Given the description of an element on the screen output the (x, y) to click on. 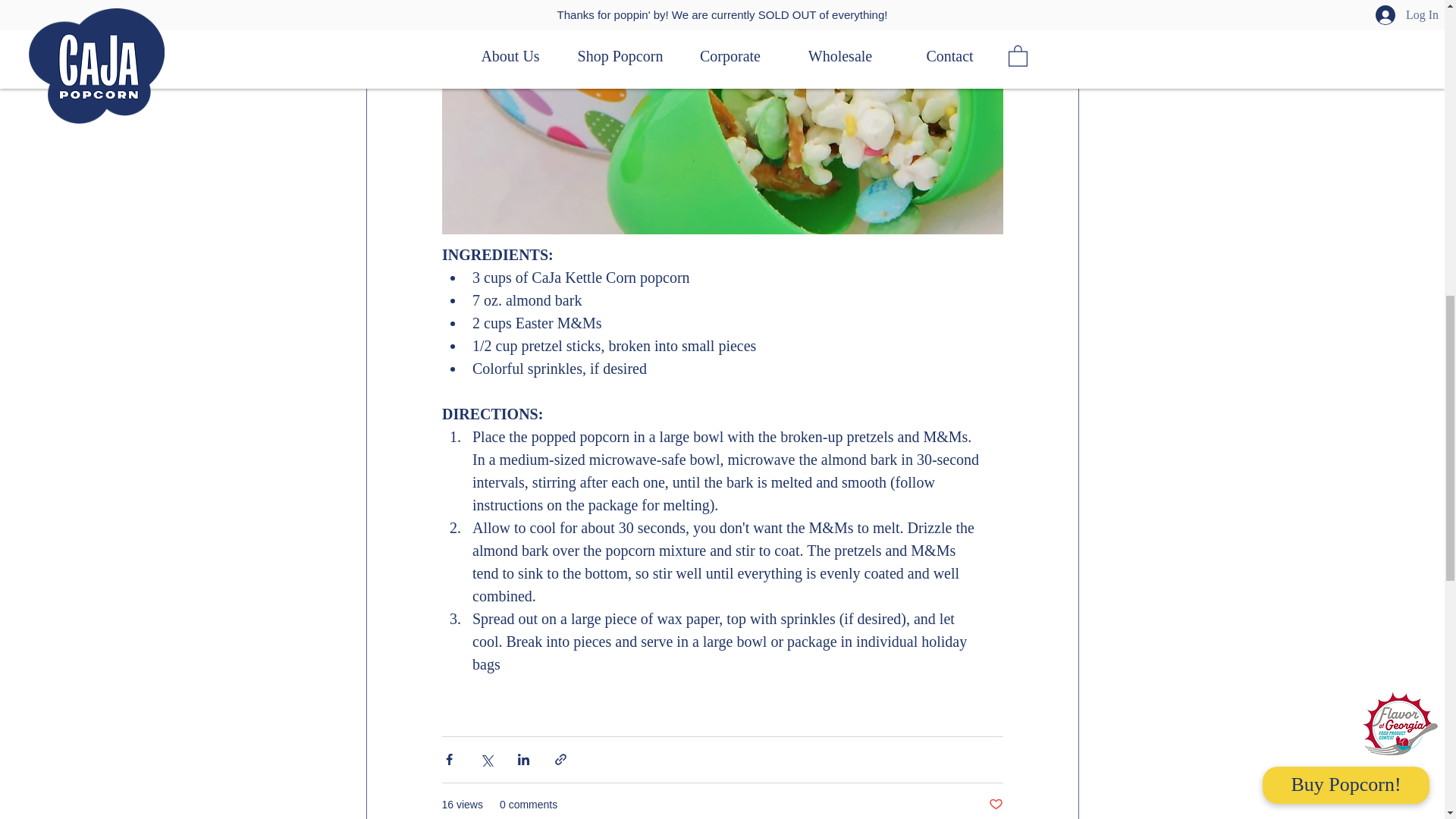
Post not marked as liked (995, 804)
